Given the description of an element on the screen output the (x, y) to click on. 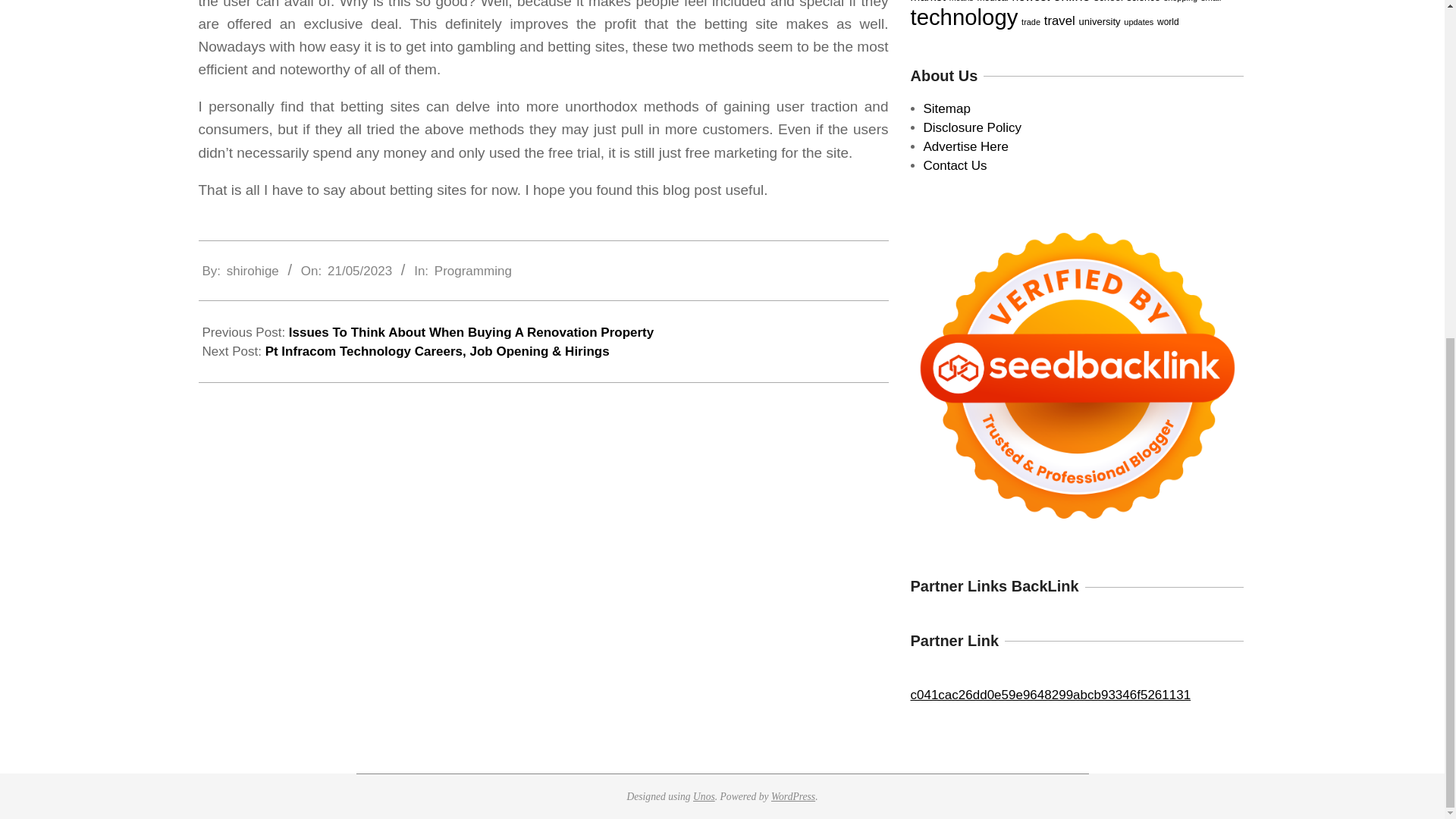
Issues To Think About When Buying A Renovation Property (470, 332)
Seedbacklink (1076, 375)
Unos WordPress Theme (703, 796)
Sunday, May 21, 2023, 1:16 am (359, 270)
shirohige (253, 270)
Posts by shirohige (253, 270)
Programming (472, 270)
